Given the description of an element on the screen output the (x, y) to click on. 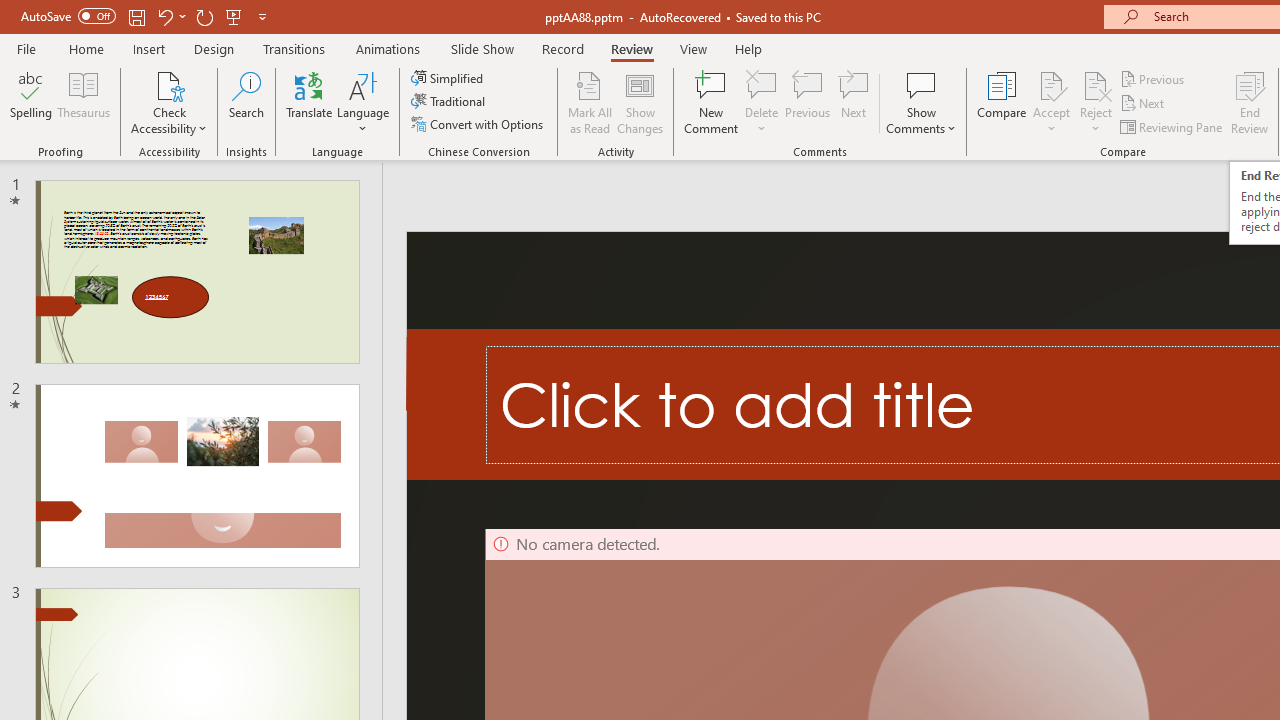
Reject Change (1096, 84)
Convert with Options... (479, 124)
Simplified (449, 78)
Translate (309, 102)
Mark All as Read (589, 102)
Compare (1002, 102)
New Comment (711, 102)
